Given the description of an element on the screen output the (x, y) to click on. 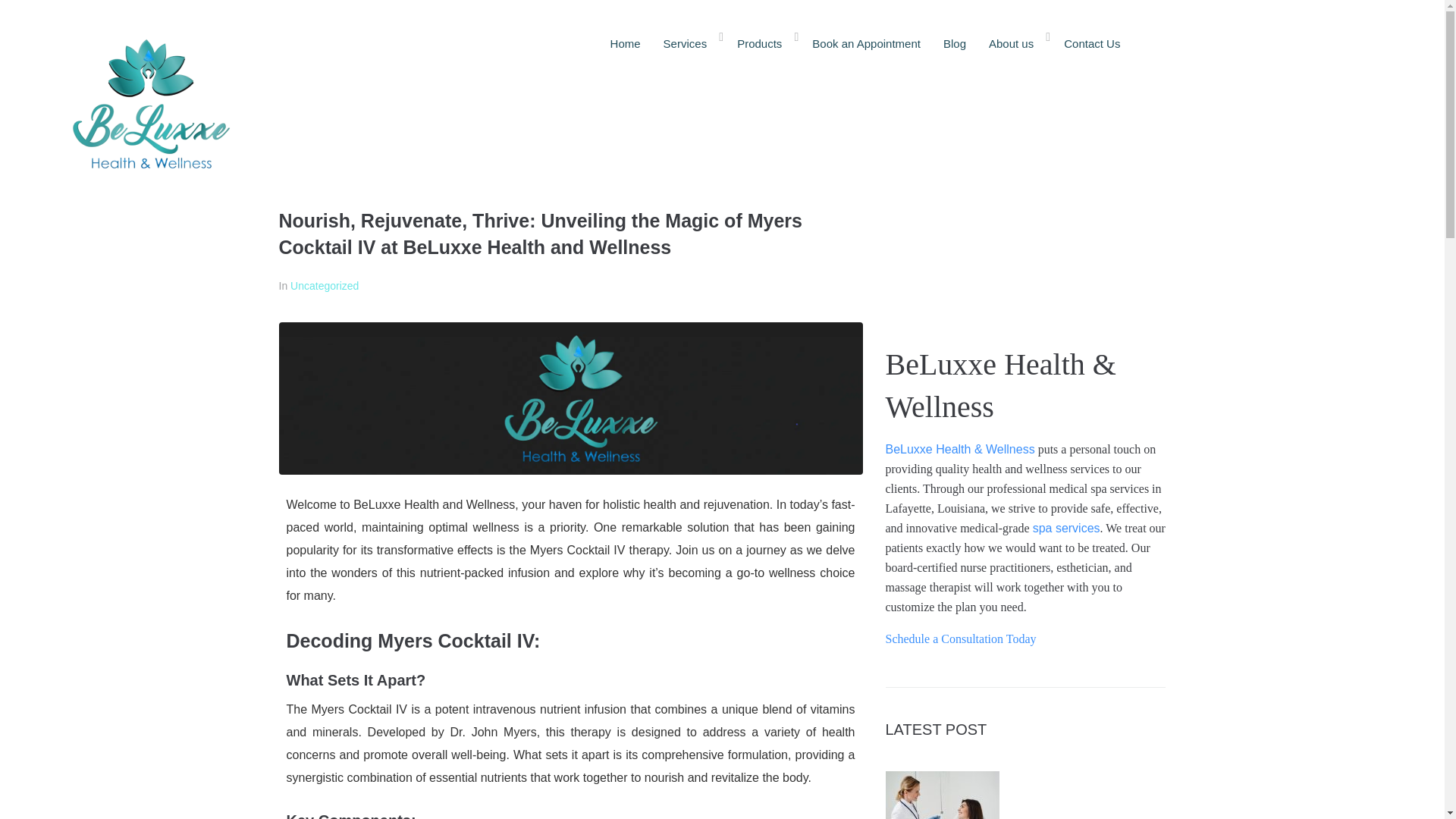
spa services (1066, 527)
About us (1014, 43)
Home (625, 43)
Products (762, 43)
Blog (953, 43)
Uncategorized (323, 285)
Services (689, 43)
Contact Us (1091, 43)
Schedule a Consultation Today (960, 638)
Book an Appointment (865, 43)
